Given the description of an element on the screen output the (x, y) to click on. 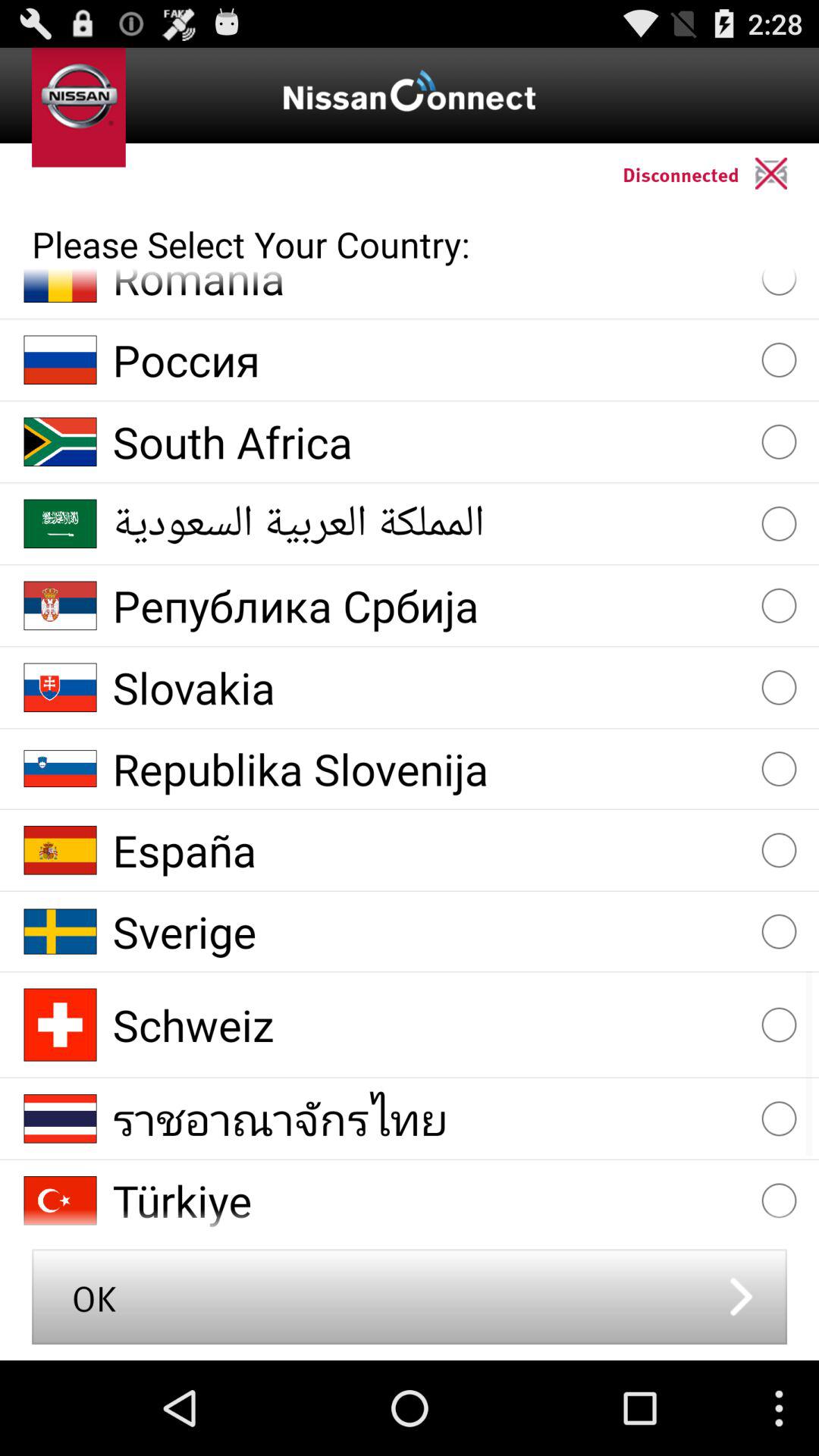
turn on ok icon (409, 1296)
